Given the description of an element on the screen output the (x, y) to click on. 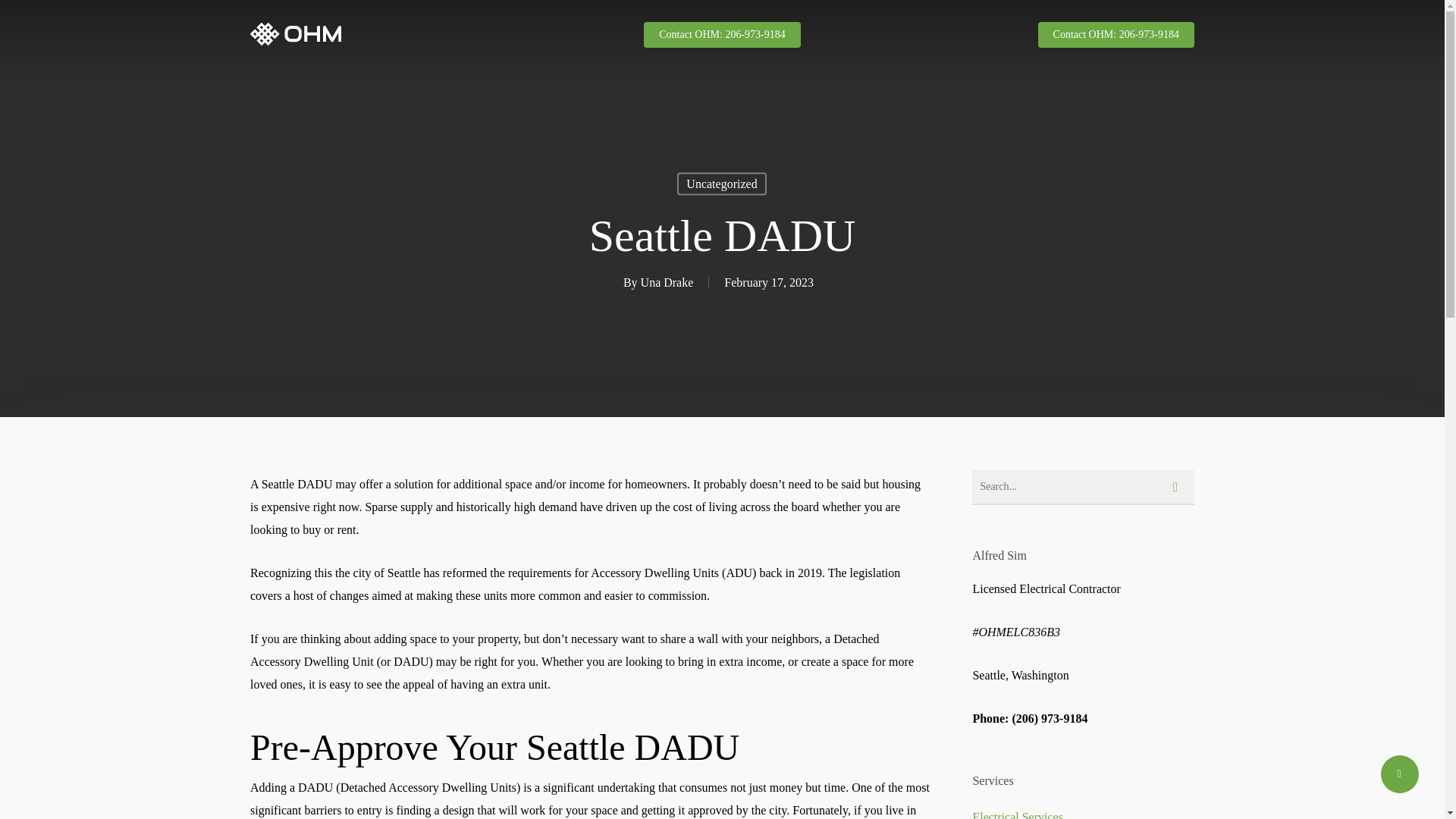
Take Advantage of Power Over Ethernet (842, 508)
Electrical Services (601, 454)
Uncategorized (721, 183)
Madison Park (1137, 472)
Benefits of Full-Spectrum Lighting (842, 566)
Free Estimate (902, 292)
Contact OHM: 206-973-9184 (721, 33)
Industrial Electrical Services (601, 511)
Capitol Hill (1147, 450)
Search for: (1082, 487)
Contact OHM: 206-973-9184 (1115, 33)
Madrona (1064, 495)
Una Drake (667, 282)
Residential Electrical Services (601, 568)
Consulting Services (601, 482)
